Given the description of an element on the screen output the (x, y) to click on. 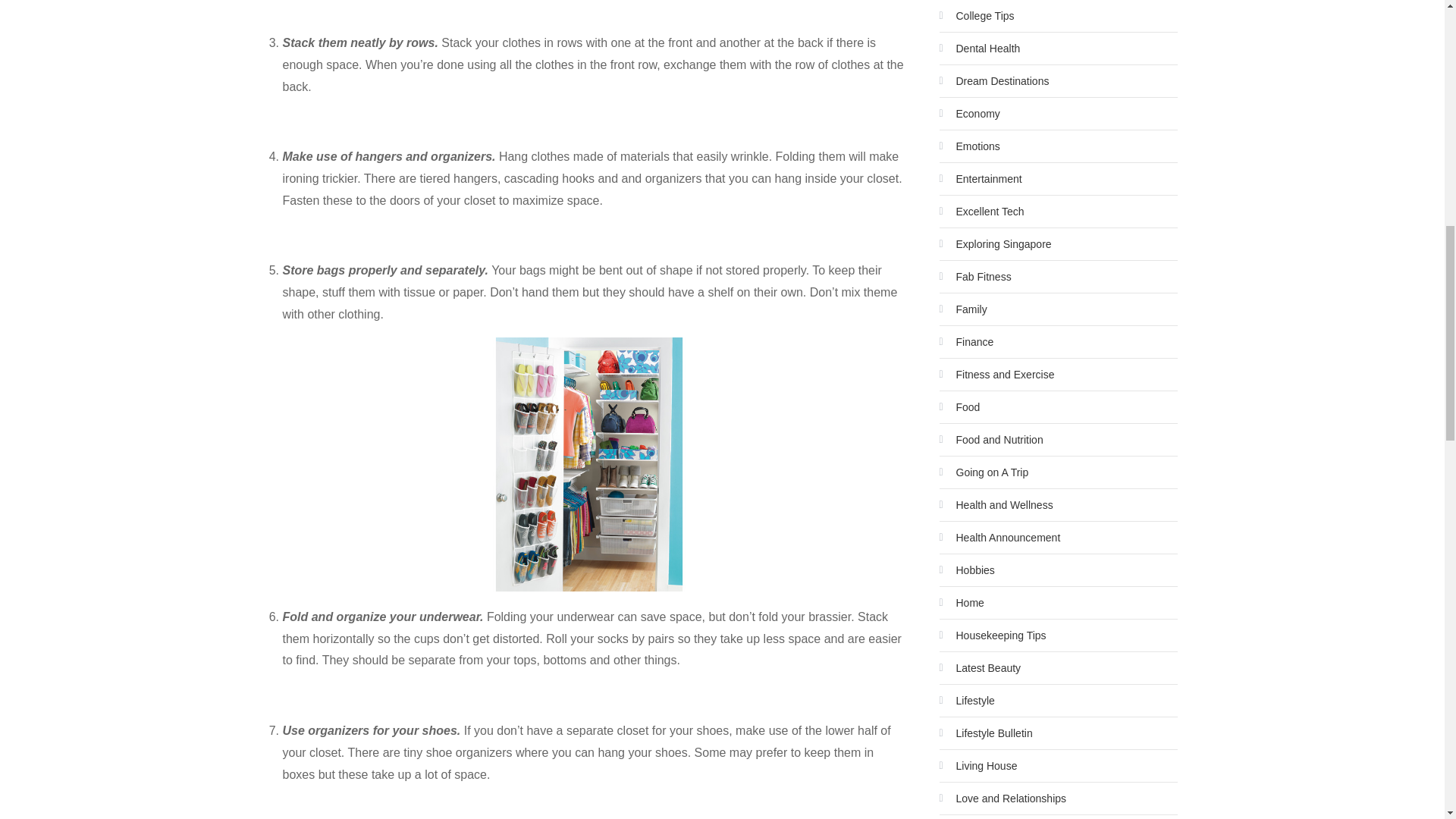
Dream Destinations (993, 80)
Excellent Tech (981, 211)
College Tips (976, 15)
Dental Health (979, 48)
Economy (968, 113)
Entertainment (980, 178)
Fab Fitness (974, 276)
Exploring Singapore (995, 243)
Emotions (968, 146)
Family (963, 309)
